Given the description of an element on the screen output the (x, y) to click on. 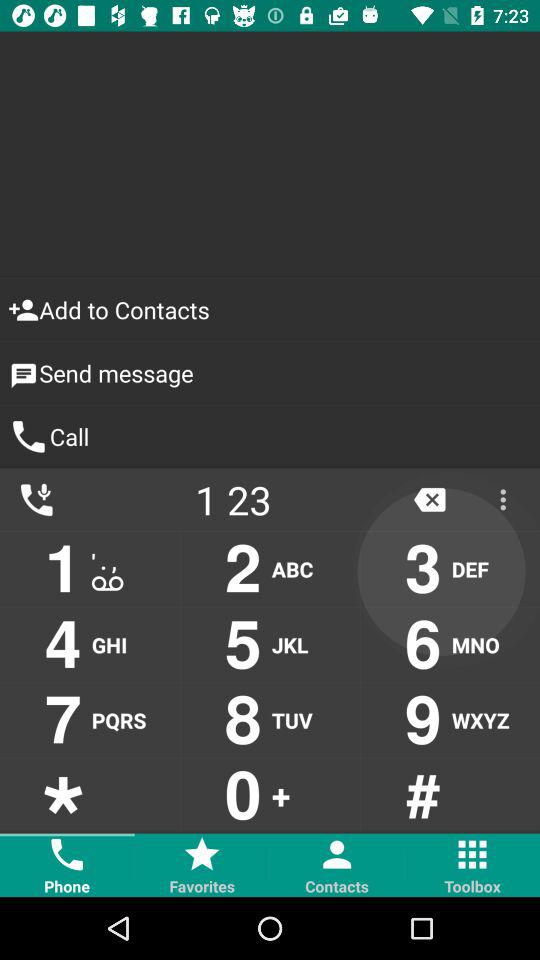
click the item next to the 1 233-5 icon (429, 499)
